Given the description of an element on the screen output the (x, y) to click on. 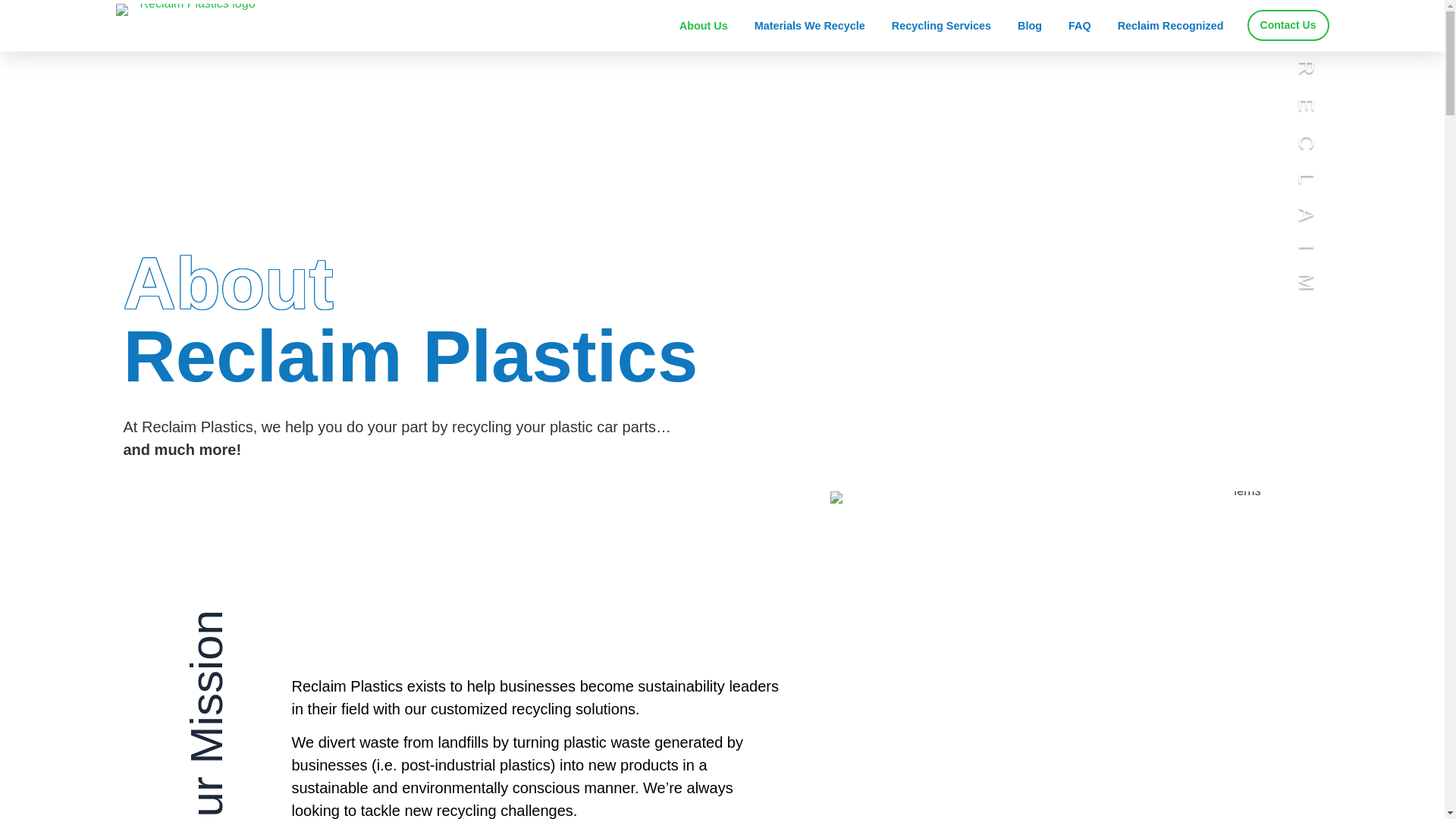
Recycling Services (940, 25)
Reclaim Recognized (1170, 25)
About Us (703, 25)
Materials We Recycle (809, 25)
Contact Us (1288, 24)
